Given the description of an element on the screen output the (x, y) to click on. 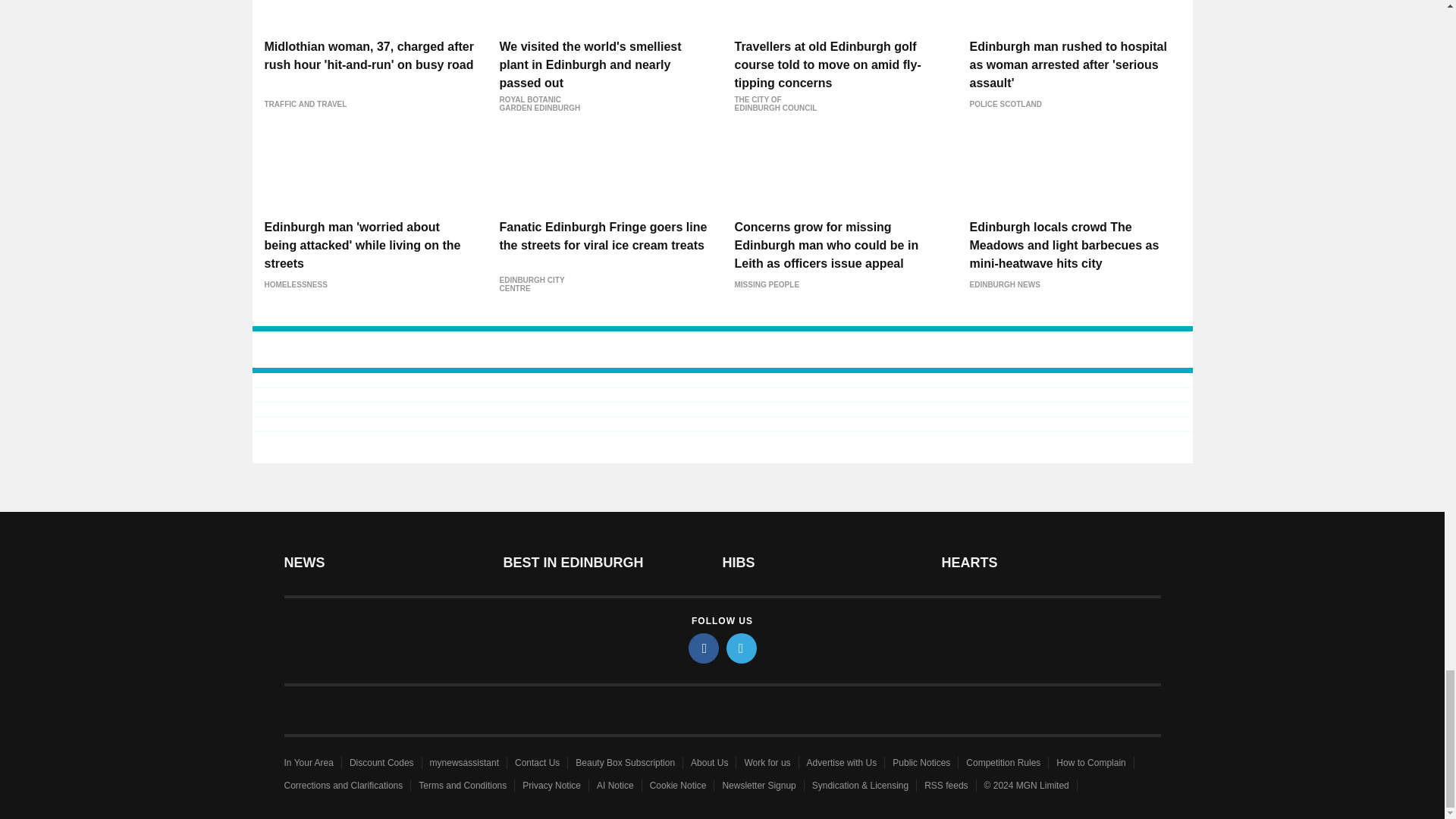
twitter (741, 648)
facebook (703, 648)
